Given the description of an element on the screen output the (x, y) to click on. 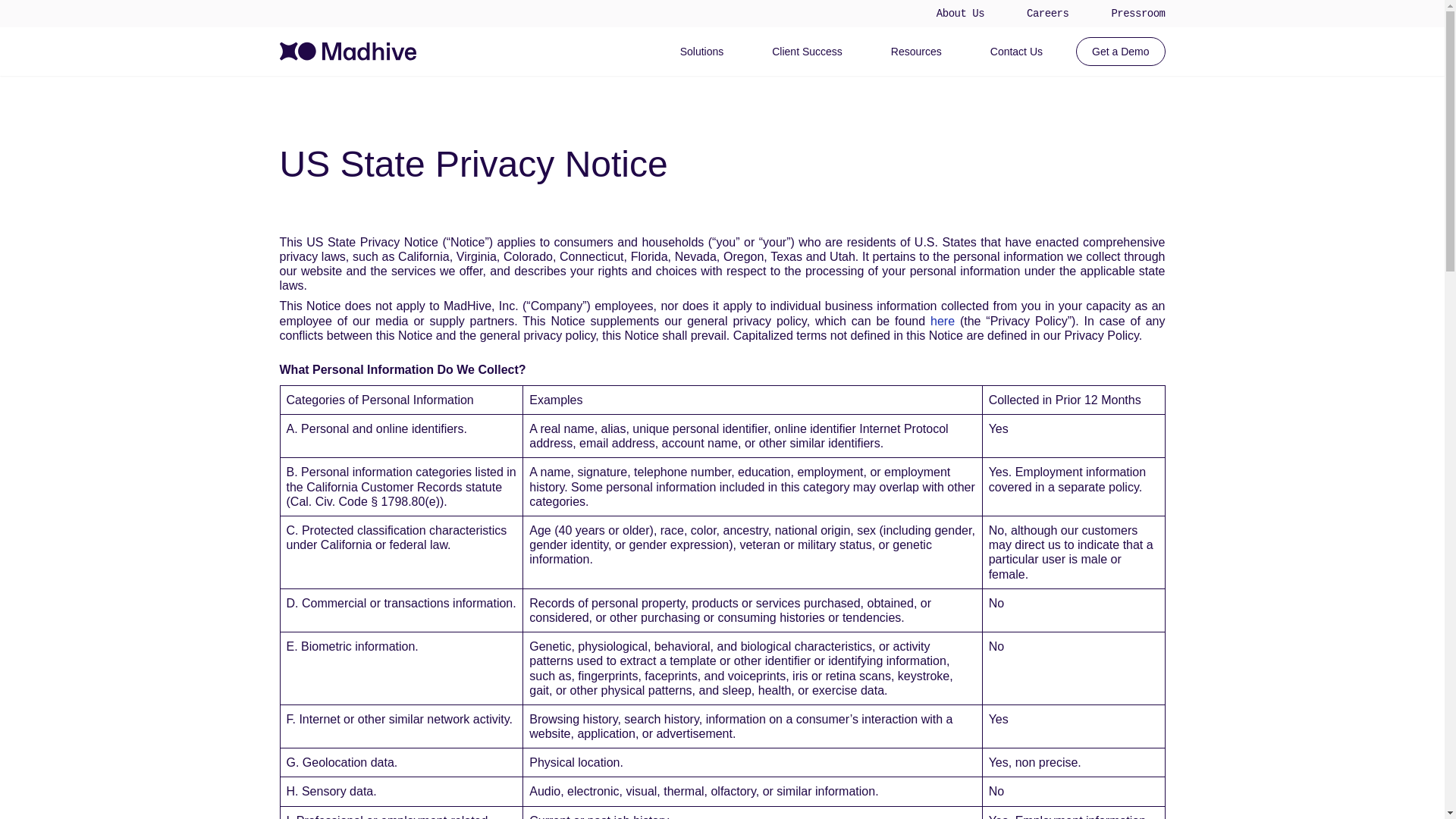
Pressroom (1137, 13)
About Us (960, 13)
Solutions (702, 47)
Get a Demo (1119, 51)
Client Success (807, 50)
Contact Us (1016, 51)
here (942, 320)
Resources (916, 50)
Careers (1047, 13)
